Given the description of an element on the screen output the (x, y) to click on. 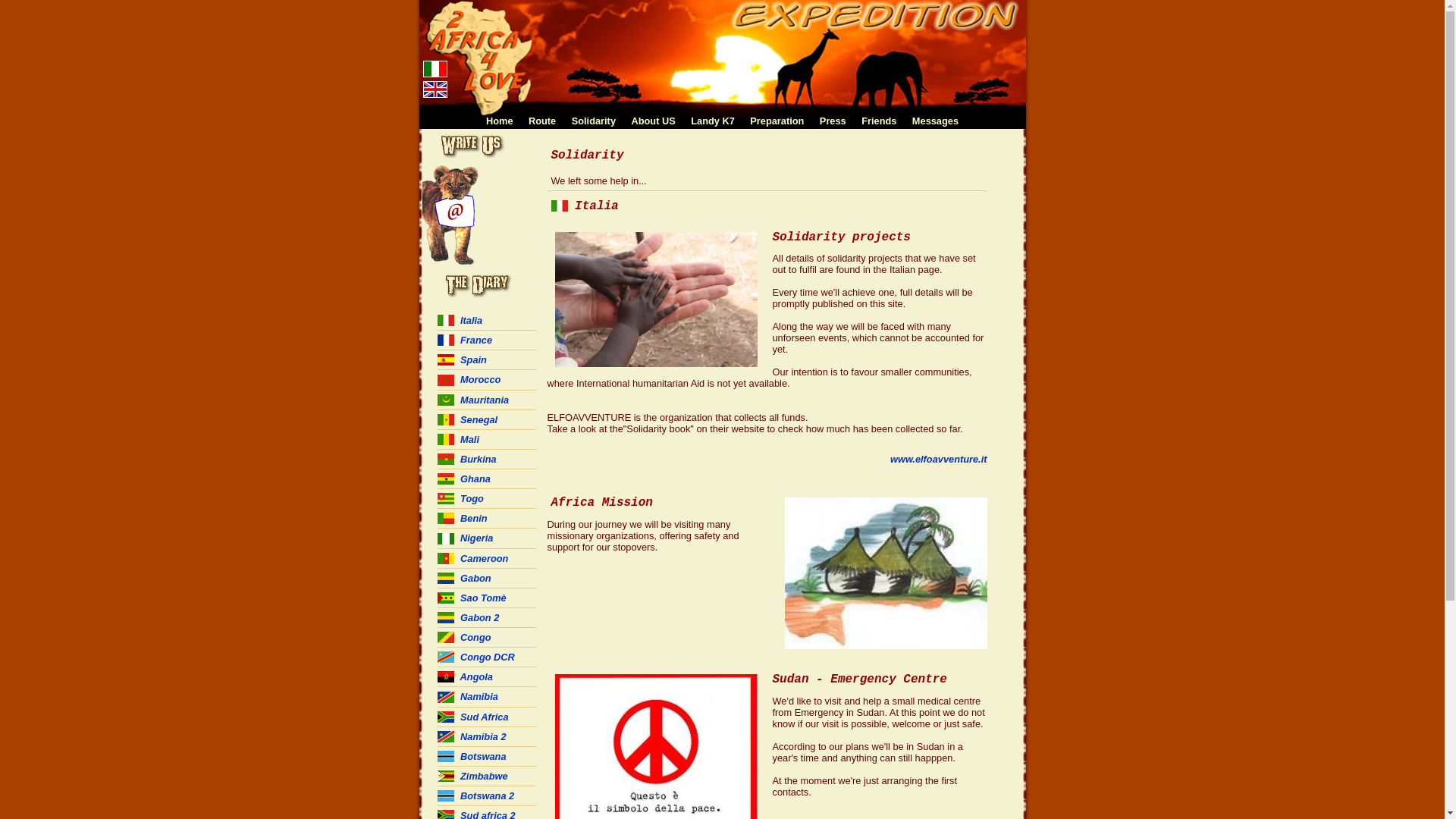
write us Element type: hover (478, 214)
Ghana Element type: text (462, 478)
Route Element type: text (541, 120)
Togo Element type: text (459, 498)
www.elfoavventure.it Element type: text (938, 458)
Namibia 2 Element type: text (470, 736)
flag Element type: hover (444, 458)
Zimbabwe Element type: text (471, 775)
France Element type: text (464, 339)
Mali Element type: text (457, 439)
flag Element type: hover (444, 379)
flag Element type: hover (444, 518)
Landy K7 Element type: text (712, 120)
Preparation Element type: text (776, 120)
flag Element type: hover (444, 716)
flag Element type: hover (444, 696)
Gabon Element type: text (463, 577)
flag Element type: hover (444, 736)
flag Element type: hover (444, 359)
flag Element type: hover (444, 676)
Botswana Element type: text (470, 756)
flag Element type: hover (444, 756)
flag Element type: hover (444, 795)
Italia Element type: text (459, 320)
About US Element type: text (652, 120)
flag Element type: hover (558, 205)
flag Element type: hover (444, 419)
Italian Element type: hover (435, 68)
Congo DCR Element type: text (475, 656)
Solidarity Element type: text (593, 120)
Angola Element type: text (464, 676)
Sud Africa Element type: text (472, 716)
Burkina Element type: text (465, 458)
Click to enlarge Element type: hover (656, 299)
flag Element type: hover (444, 339)
Mauritania Element type: text (472, 399)
Congo Element type: text (463, 637)
flag Element type: hover (444, 656)
Senegal Element type: text (466, 419)
Click to enlarge Element type: hover (885, 573)
Home Element type: text (499, 120)
flag Element type: hover (444, 775)
Benin Element type: text (461, 518)
Nigeria Element type: text (464, 537)
flag Element type: hover (444, 637)
flag Element type: hover (444, 498)
flag Element type: hover (444, 597)
English Element type: hover (435, 89)
Spain Element type: text (461, 359)
flag Element type: hover (444, 439)
flag Element type: hover (444, 558)
Press Element type: text (832, 120)
Gabon 2 Element type: text (467, 617)
flag Element type: hover (444, 537)
flag Element type: hover (444, 478)
Cameroon Element type: text (472, 557)
Messages Element type: text (935, 120)
flag Element type: hover (444, 320)
Morocco Element type: text (468, 379)
Namibia Element type: text (466, 696)
flag Element type: hover (444, 399)
Botswana 2 Element type: text (475, 795)
Friends Element type: text (878, 120)
flag Element type: hover (444, 617)
flag Element type: hover (444, 577)
